Given the description of an element on the screen output the (x, y) to click on. 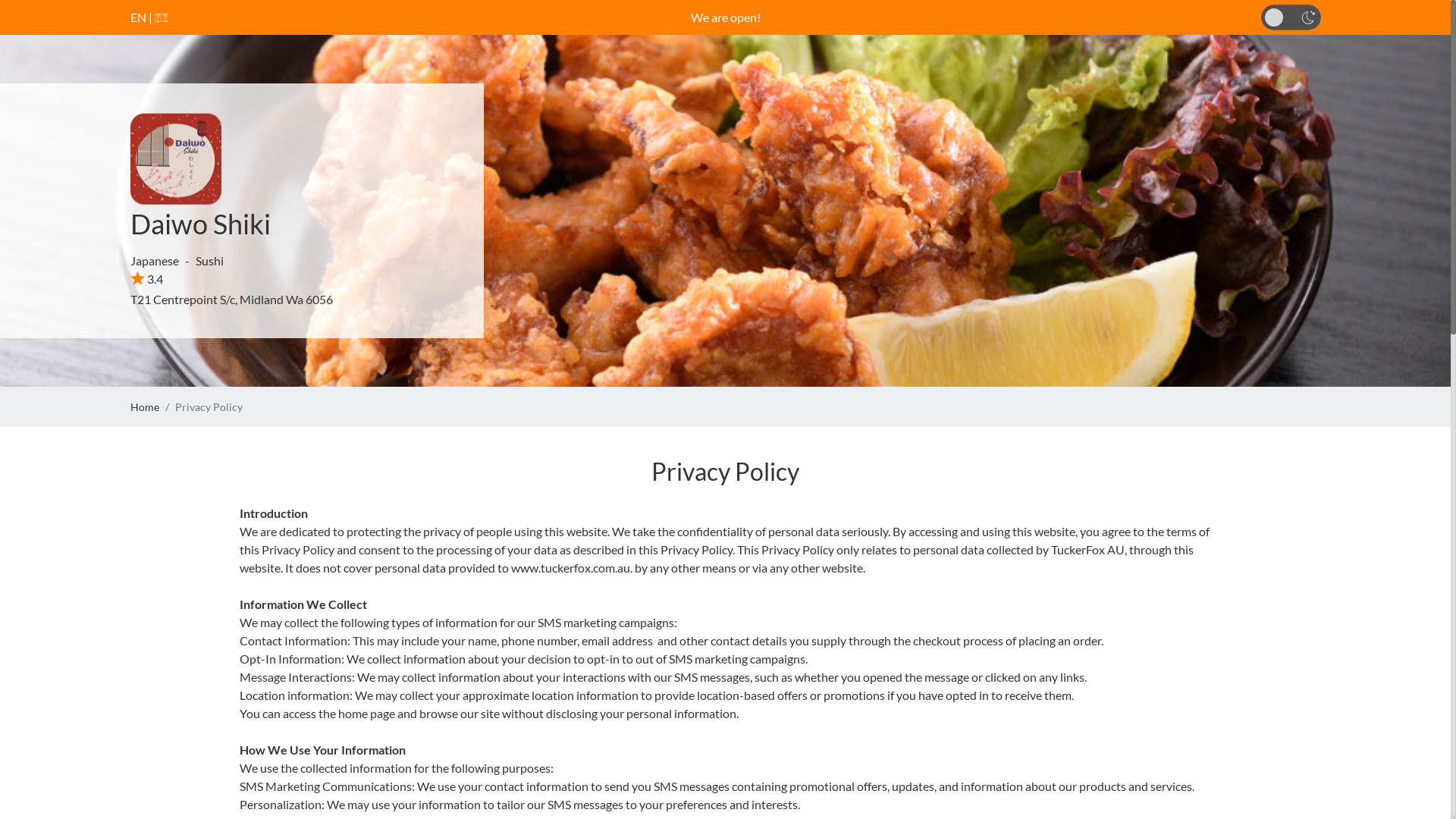
3.4 Element type: text (146, 278)
EN Element type: text (138, 16)
Home Element type: text (144, 406)
Daiwo Shiki Element type: text (200, 223)
